Given the description of an element on the screen output the (x, y) to click on. 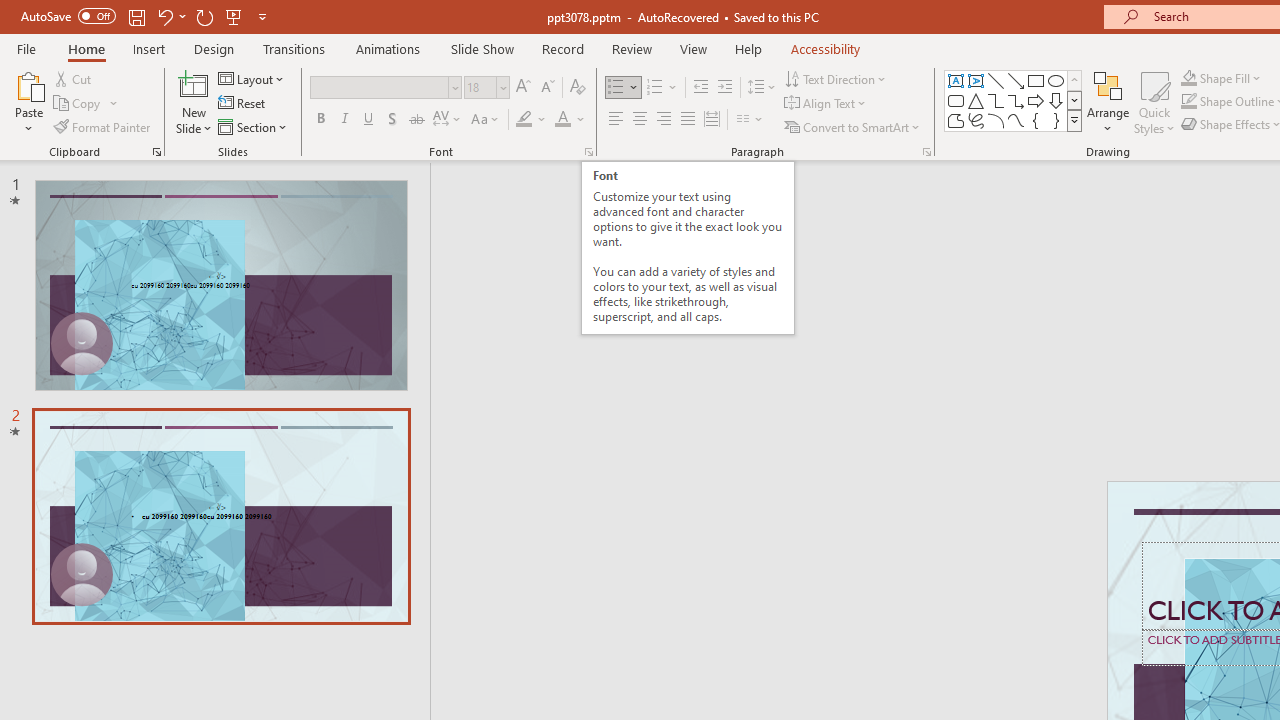
Font (379, 87)
Vertical Text Box (975, 80)
Undo (170, 15)
Redo (204, 15)
Bullets (616, 87)
Text Highlight Color Yellow (524, 119)
More Options (1232, 78)
Character Spacing (447, 119)
Text Box (955, 80)
Save (136, 15)
Shape Fill (1221, 78)
Change Case (486, 119)
Office Clipboard... (156, 151)
